Given the description of an element on the screen output the (x, y) to click on. 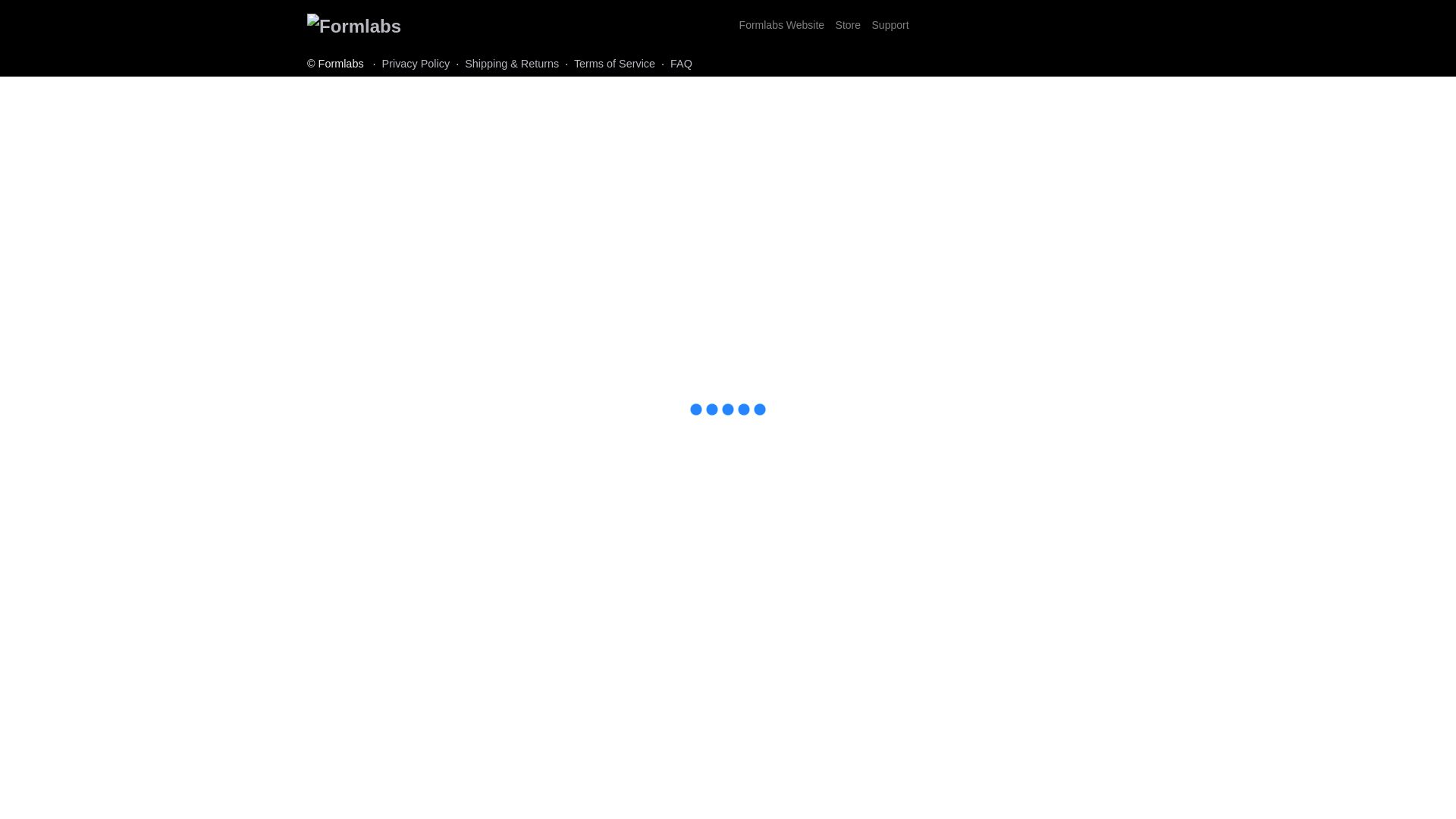
Privacy Policy (415, 63)
FAQ (681, 63)
Store (847, 24)
Formlabs Website (781, 24)
Support (889, 24)
Terms of Service (614, 63)
